Given the description of an element on the screen output the (x, y) to click on. 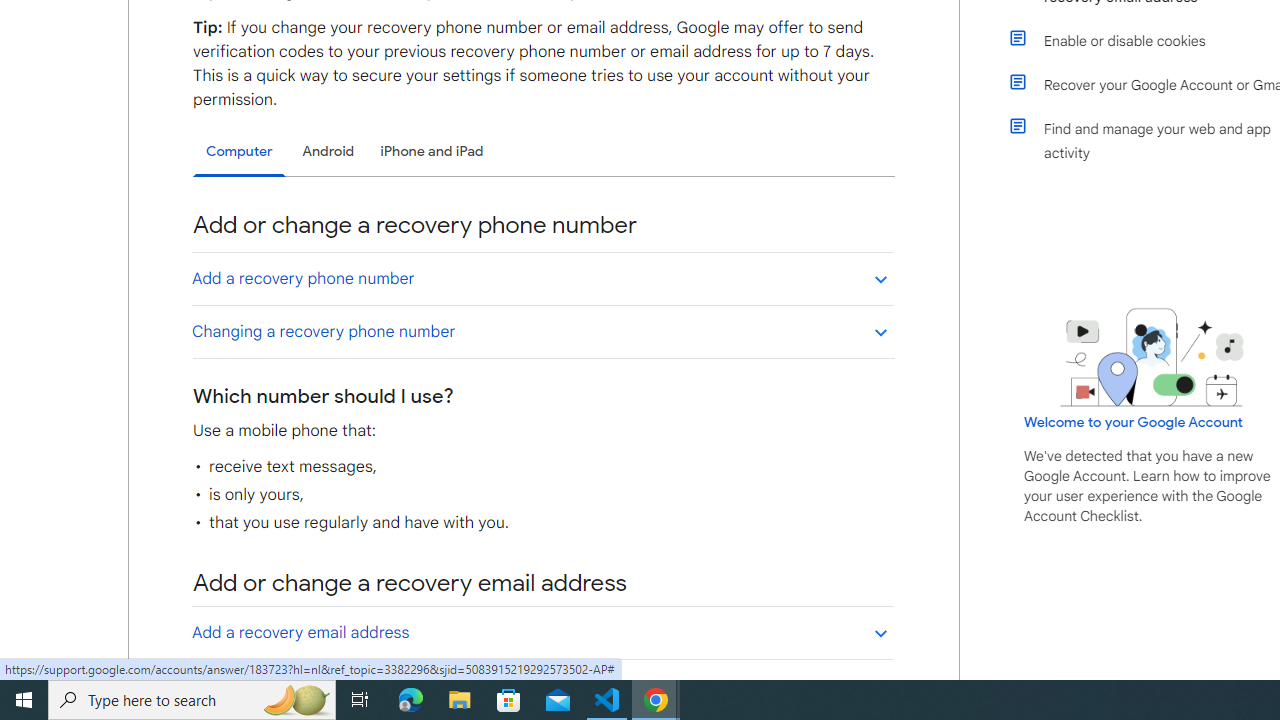
iPhone and iPad (431, 151)
Add a recovery phone number (542, 278)
Welcome to your Google Account (1134, 422)
Learning Center home page image (1152, 357)
Add a recovery email address (542, 632)
Computer (239, 152)
Changing a recovery phone number (542, 331)
Changing a recovery email address (542, 685)
Android (328, 151)
